Given the description of an element on the screen output the (x, y) to click on. 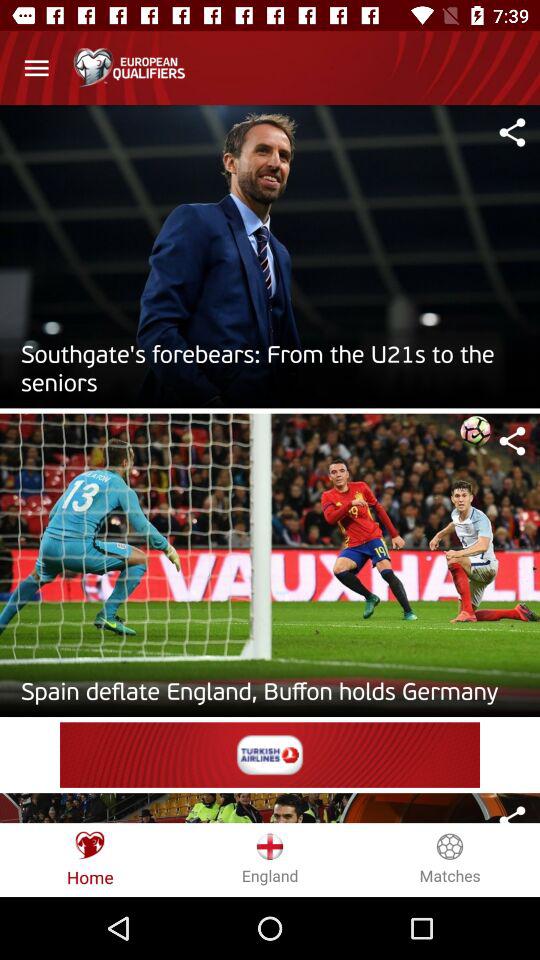
share to article (512, 132)
